Given the description of an element on the screen output the (x, y) to click on. 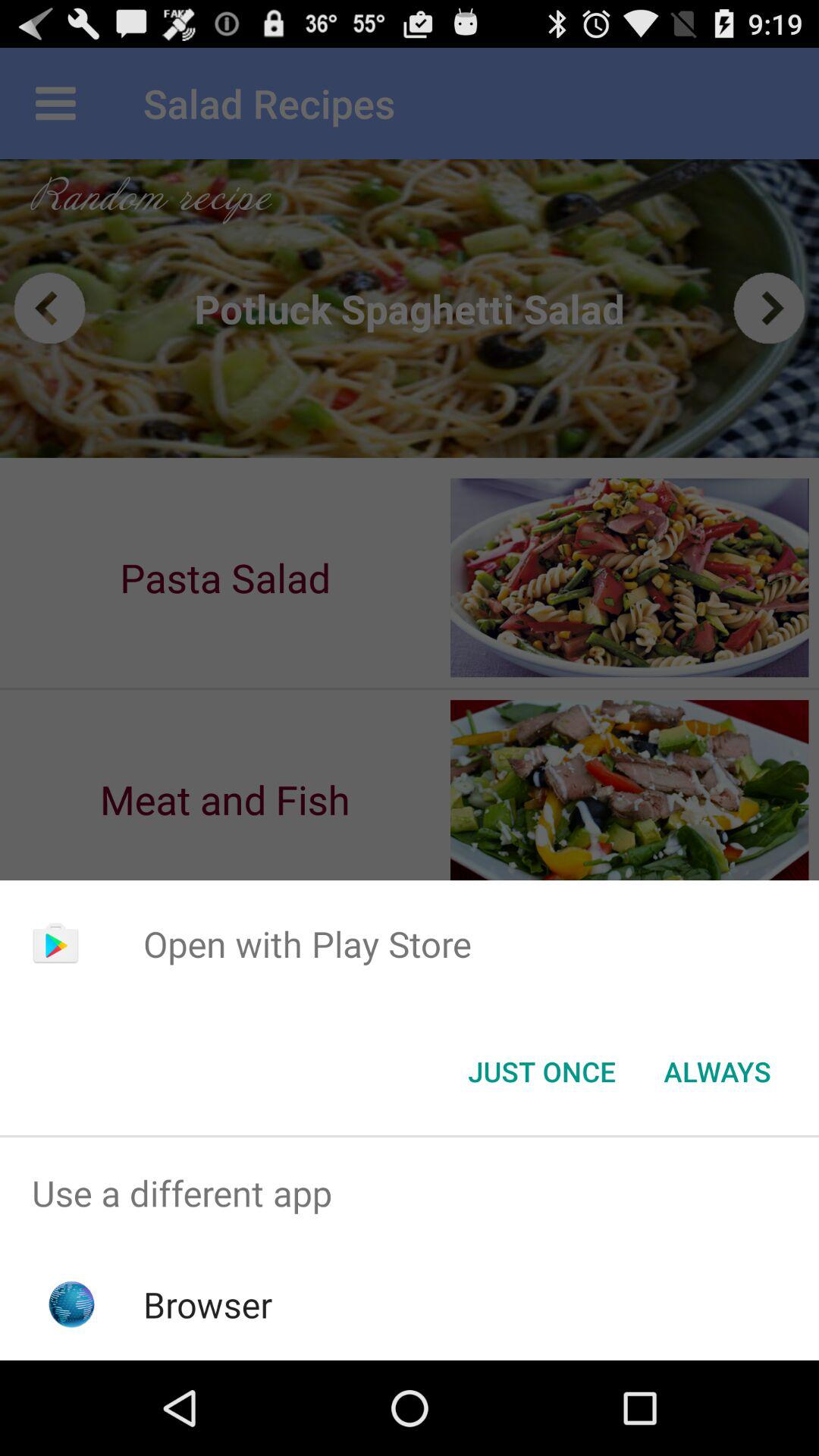
tap button next to just once (717, 1071)
